Given the description of an element on the screen output the (x, y) to click on. 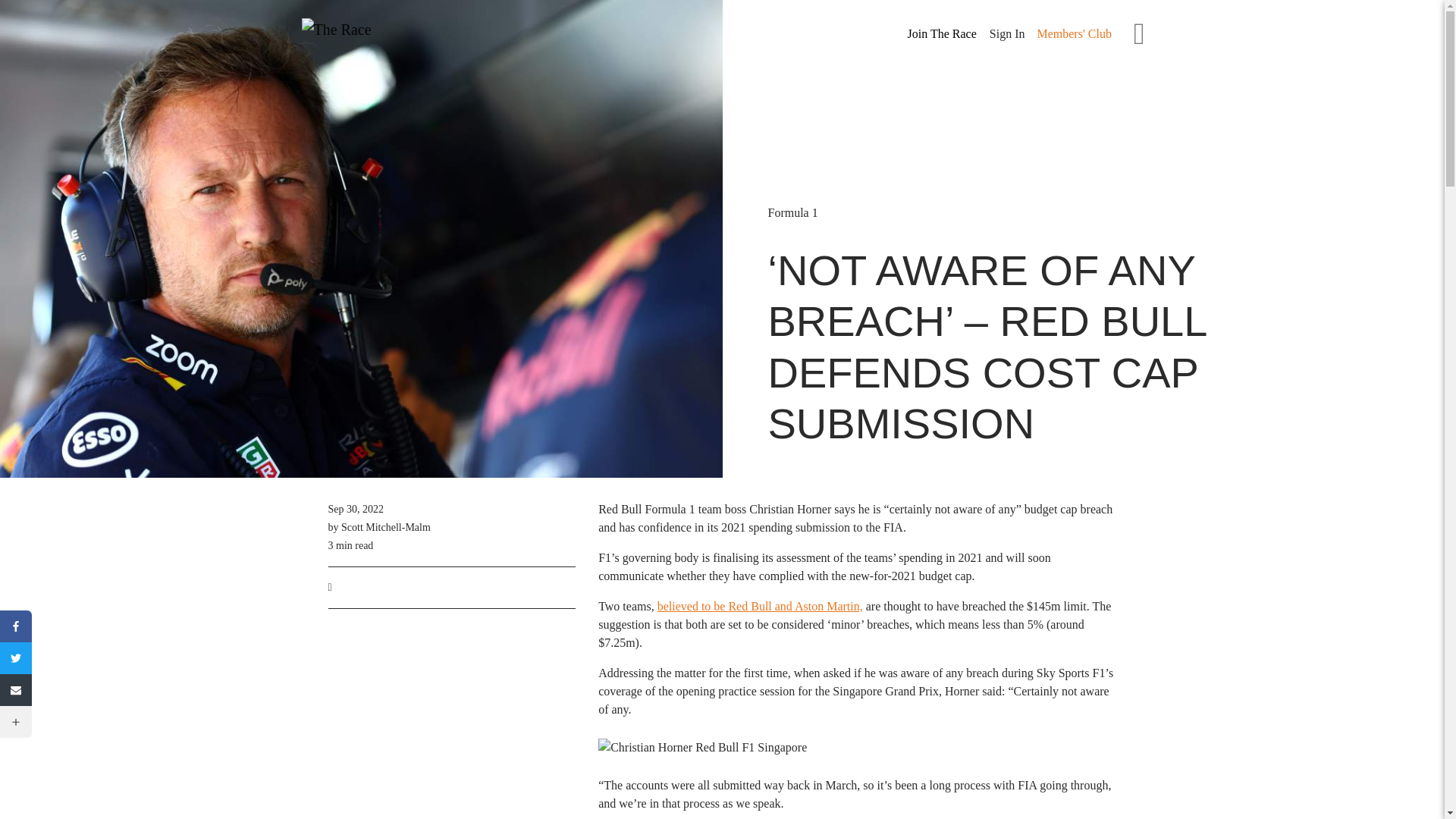
believed to be Red Bull and Aston Martin, (760, 605)
Members' Club (1073, 33)
Sign In (1007, 33)
Join The Race (941, 34)
